Given the description of an element on the screen output the (x, y) to click on. 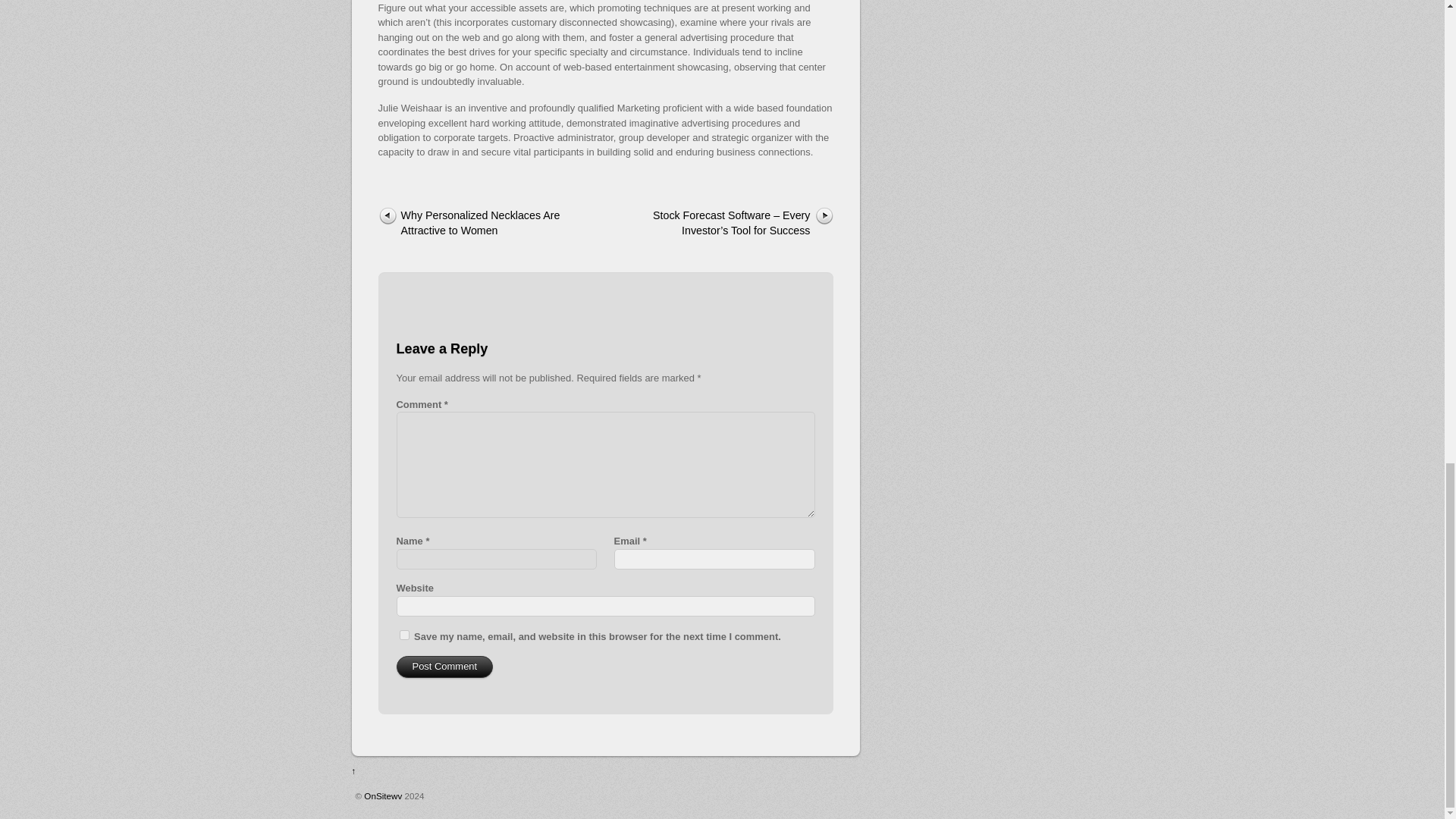
yes (403, 634)
Why Personalized Necklaces Are Attractive to Women (479, 223)
Post Comment (444, 667)
OnSitewv (382, 795)
Post Comment (444, 667)
